Given the description of an element on the screen output the (x, y) to click on. 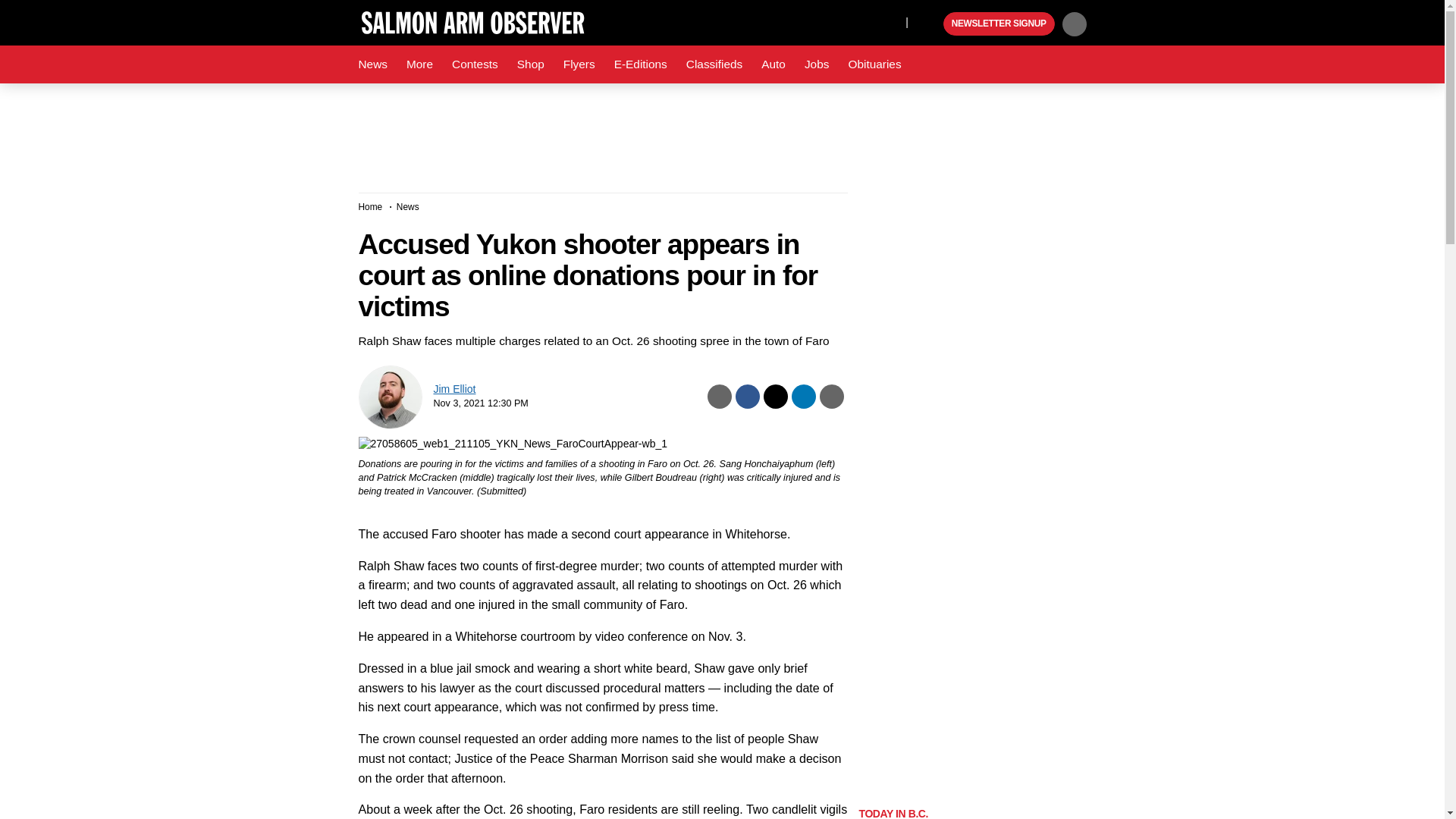
X (889, 21)
NEWSLETTER SIGNUP (998, 24)
News (372, 64)
Black Press Media (929, 24)
Play (929, 24)
